Given the description of an element on the screen output the (x, y) to click on. 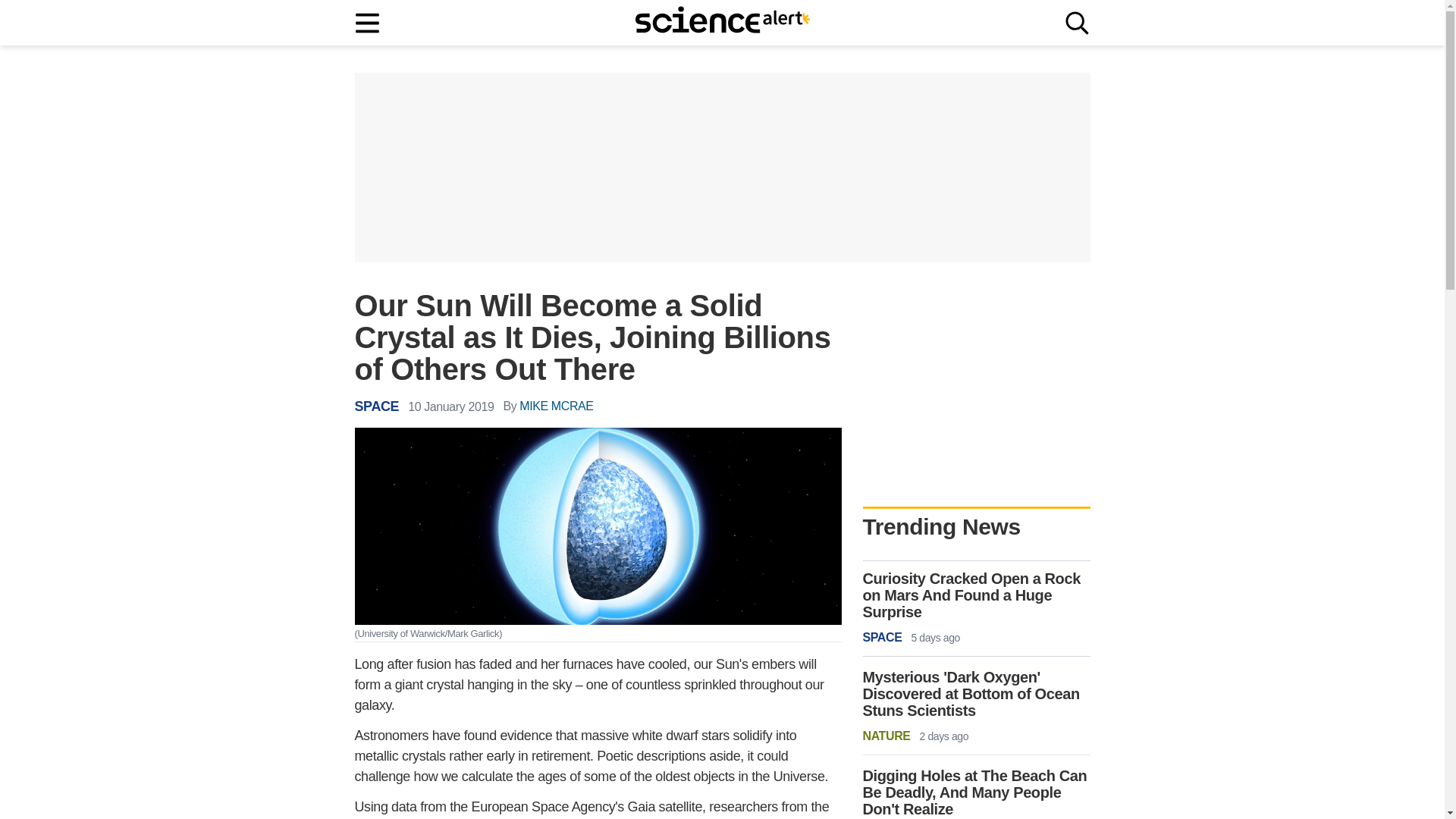
MIKE MCRAE (555, 405)
SPACE (882, 637)
SPACE (376, 406)
